Given the description of an element on the screen output the (x, y) to click on. 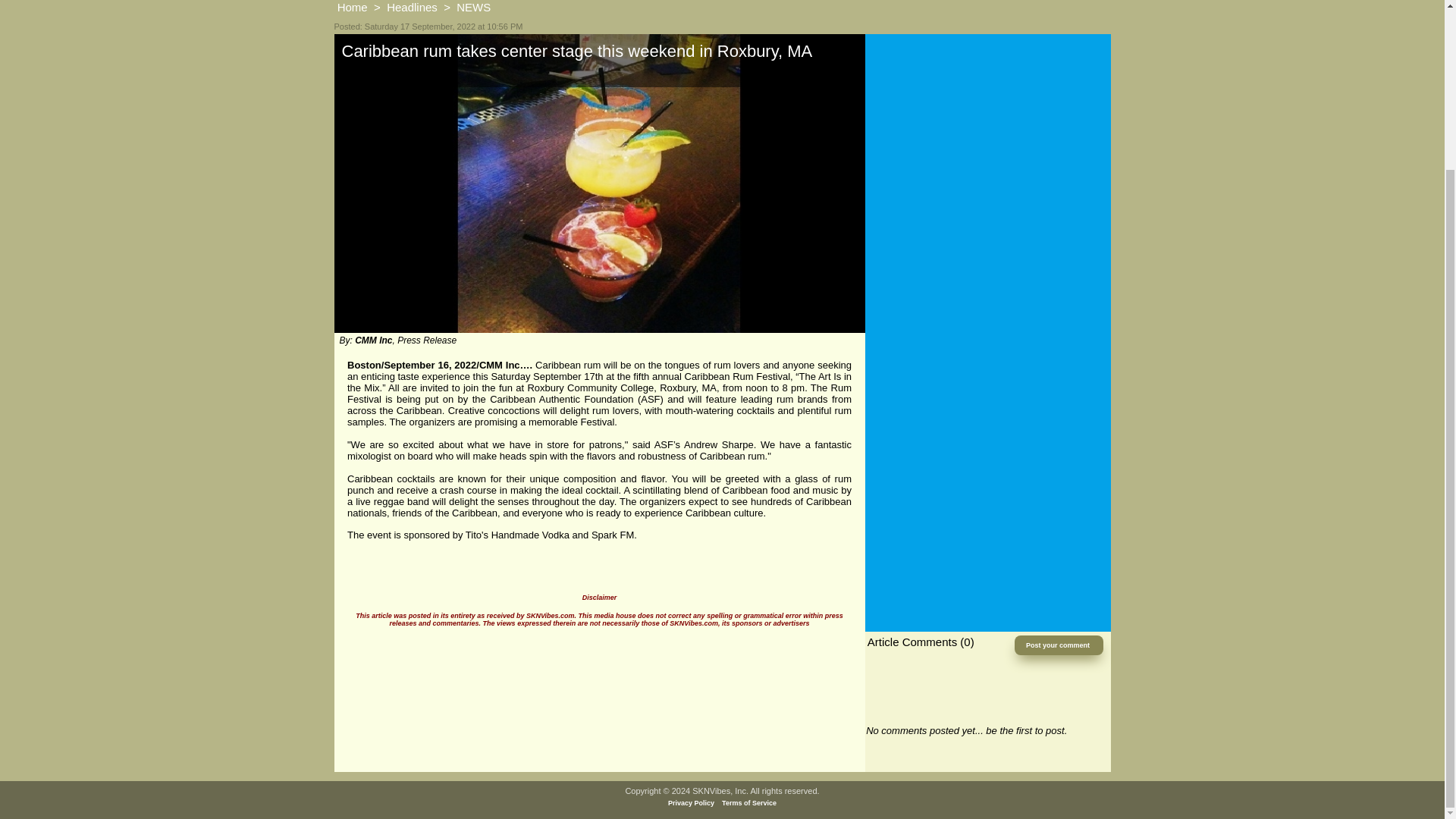
Take Part In The Discussion, Post A Comment! (1058, 645)
